Given the description of an element on the screen output the (x, y) to click on. 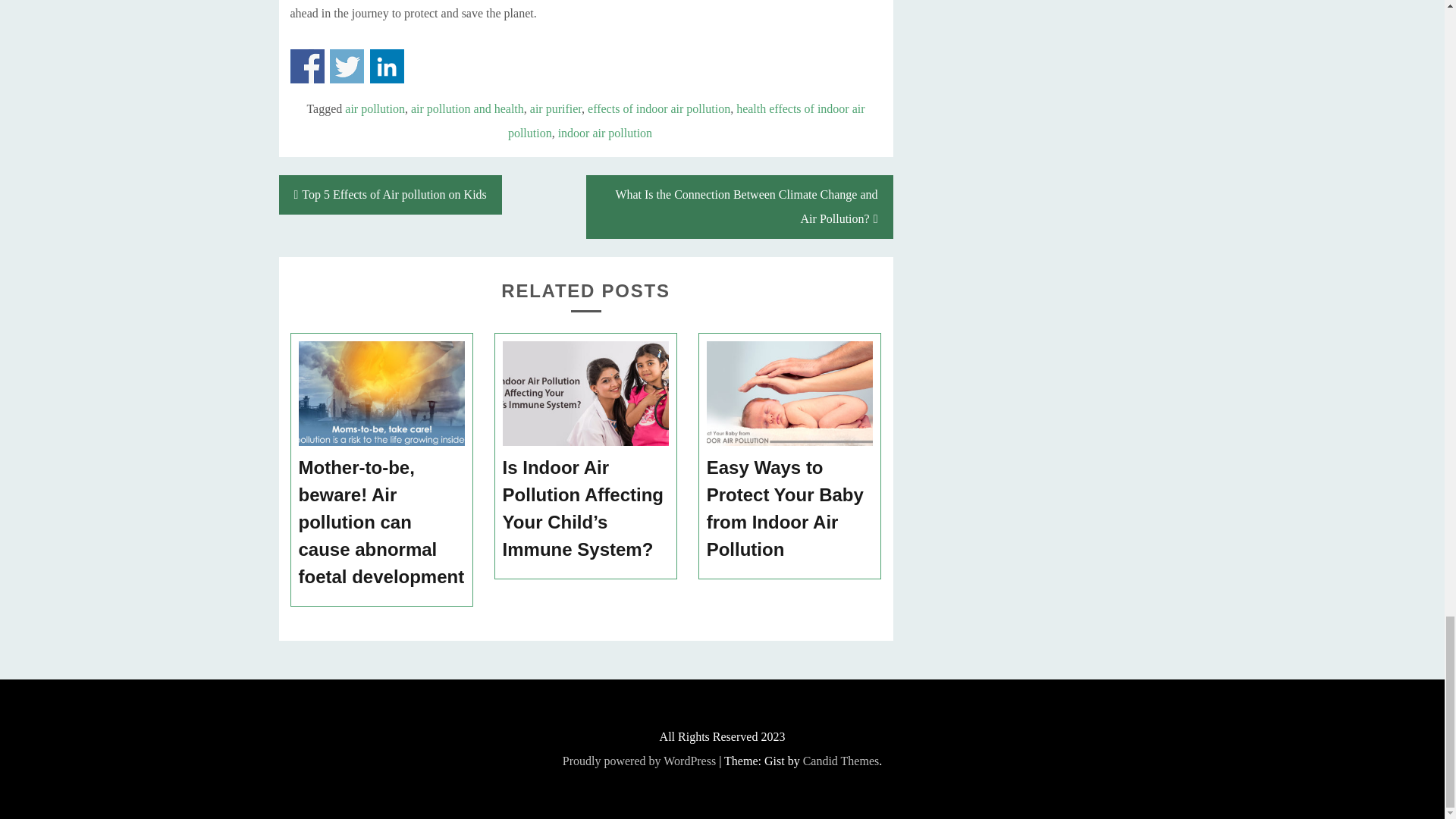
air pollution (374, 108)
Share on Linkedin (386, 66)
effects of indoor air pollution (659, 108)
air purifier (554, 108)
air pollution and health (467, 108)
Easy Ways to Protect Your Baby from Indoor Air Pollution (789, 508)
indoor air pollution (604, 132)
Share on Facebook (306, 66)
